Given the description of an element on the screen output the (x, y) to click on. 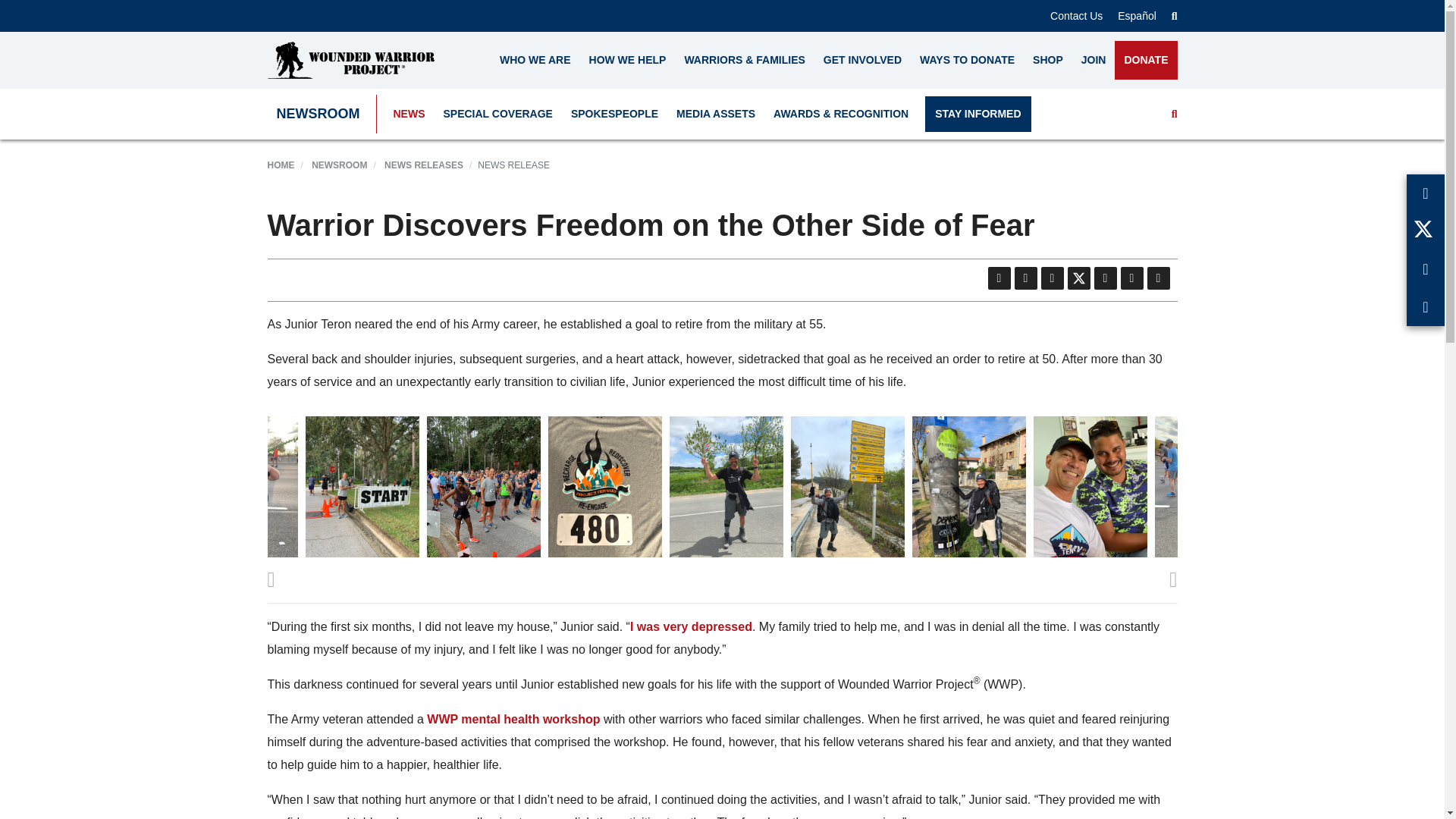
email (1051, 277)
WAYS TO DONATE (967, 59)
Linkedin Share (1104, 277)
Facebook Share (1131, 277)
Twitter Share (1078, 277)
WHO WE ARE (534, 59)
rss (1025, 277)
Contact Us (1075, 15)
HOW WE HELP (627, 59)
GET INVOLVED (862, 59)
